Given the description of an element on the screen output the (x, y) to click on. 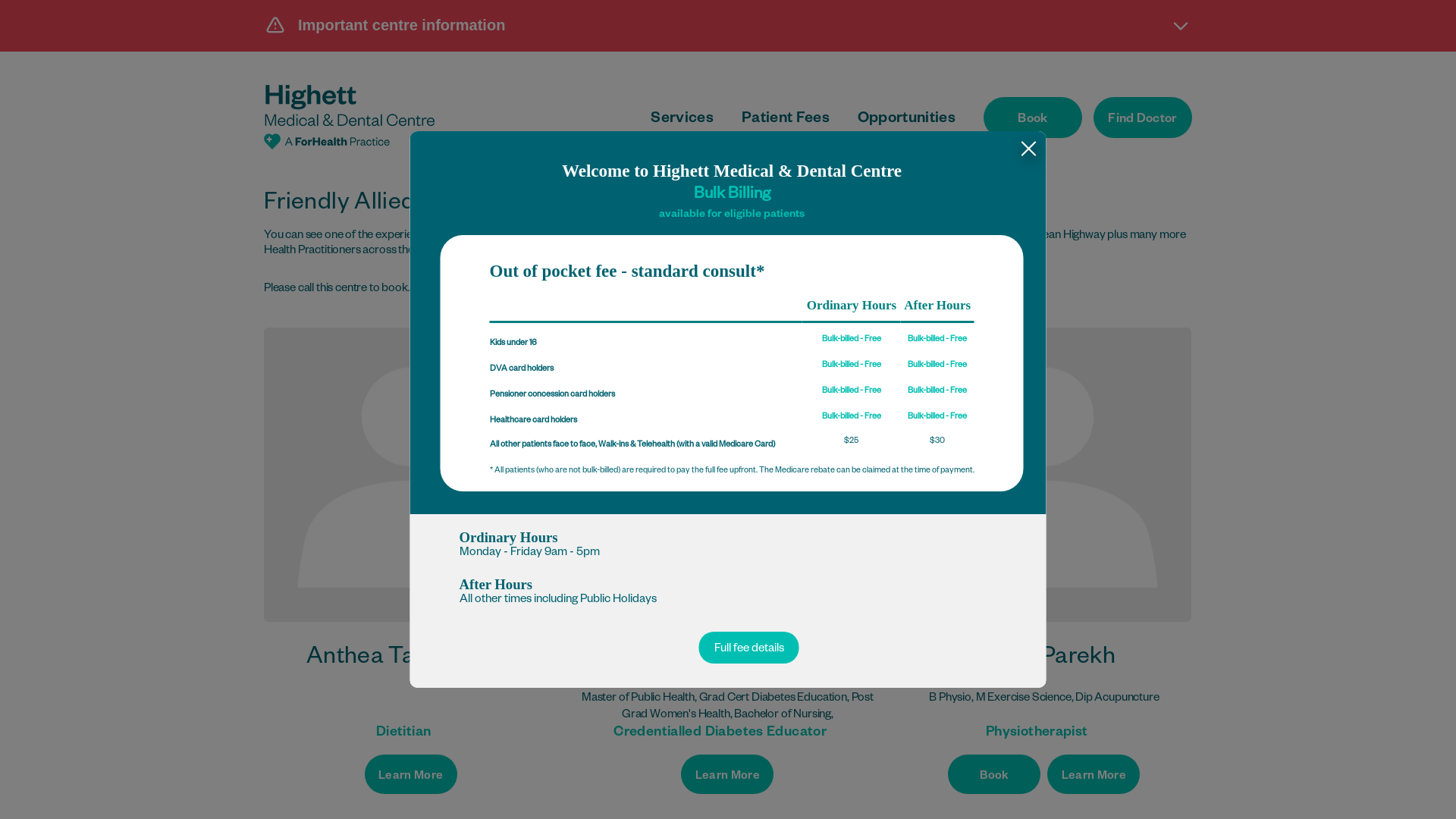
Learn More Element type: text (726, 773)
Highett Medical & Dental Centre Element type: hover (348, 116)
Book Element type: text (993, 773)
Learn More Element type: text (1093, 773)
Anthea Talliopoulos Element type: text (410, 659)
Harsh Parekh Element type: hover (1044, 474)
Full fee details Element type: text (749, 647)
Book Element type: text (1032, 117)
Important centre information Element type: text (727, 24)
Patient Fees Element type: text (785, 119)
Grace Man Element type: text (727, 659)
Services Element type: text (681, 119)
Grace Man Element type: hover (727, 474)
Harsh Parekh Element type: text (1044, 659)
Opportunities Element type: text (906, 119)
Learn More Element type: text (410, 773)
Find Doctor Element type: text (1142, 117)
Anthea Talliopoulos Element type: hover (410, 474)
